Given the description of an element on the screen output the (x, y) to click on. 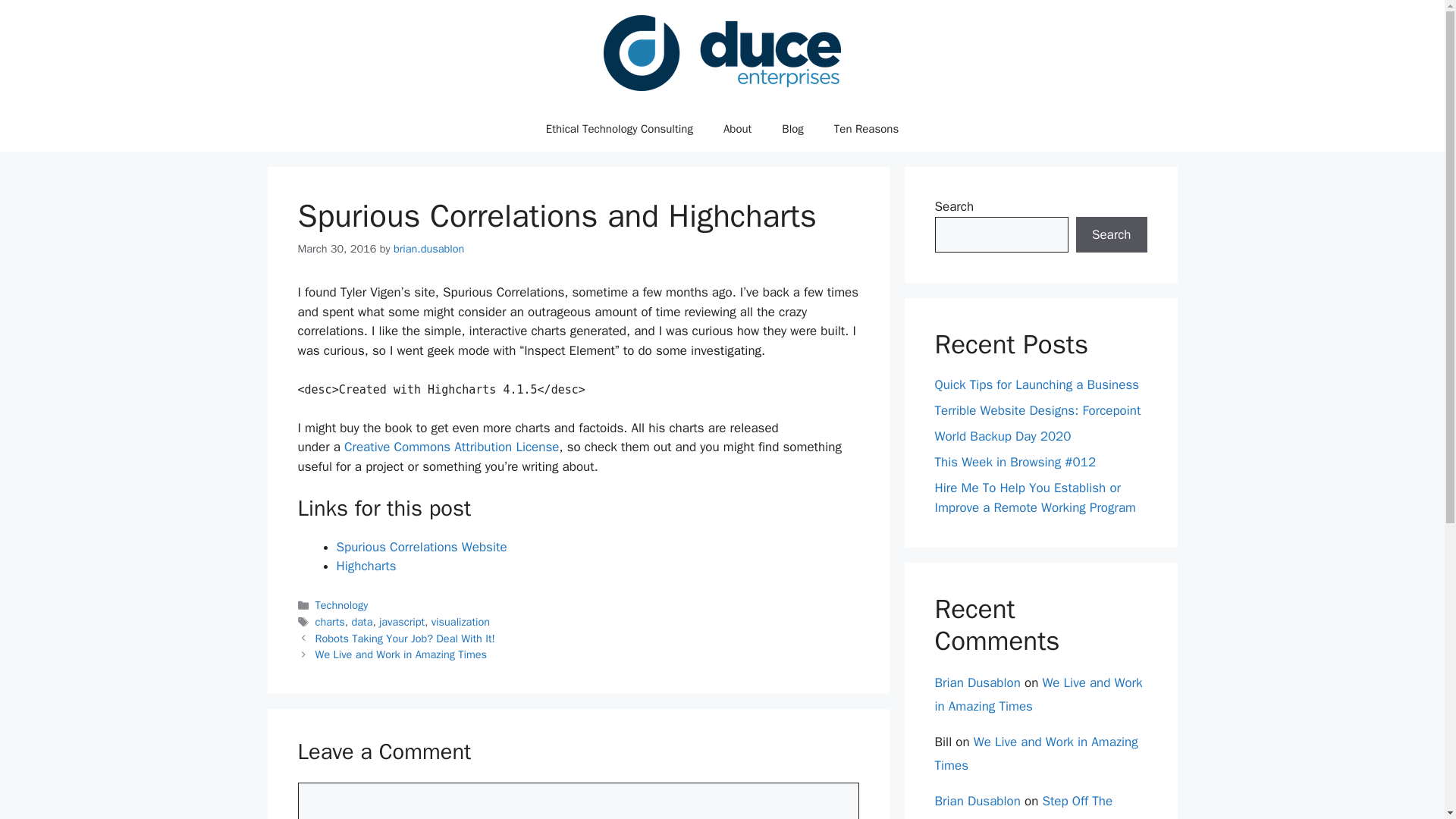
We Live and Work in Amazing Times (1037, 694)
Robots Taking Your Job? Deal With It! (405, 638)
Ethical Technology Consulting (619, 128)
Terrible Website Designs: Forcepoint (1037, 410)
World Backup Day 2020 (1002, 436)
brian.dusablon (428, 248)
Brian Dusablon (977, 801)
We Live and Work in Amazing Times (1035, 753)
View all posts by brian.dusablon (428, 248)
Ten Reasons (866, 128)
Quick Tips for Launching a Business (1036, 384)
Highcharts (366, 565)
Brian Dusablon (977, 682)
Spurious Correlations Website (421, 546)
charts (330, 621)
